Given the description of an element on the screen output the (x, y) to click on. 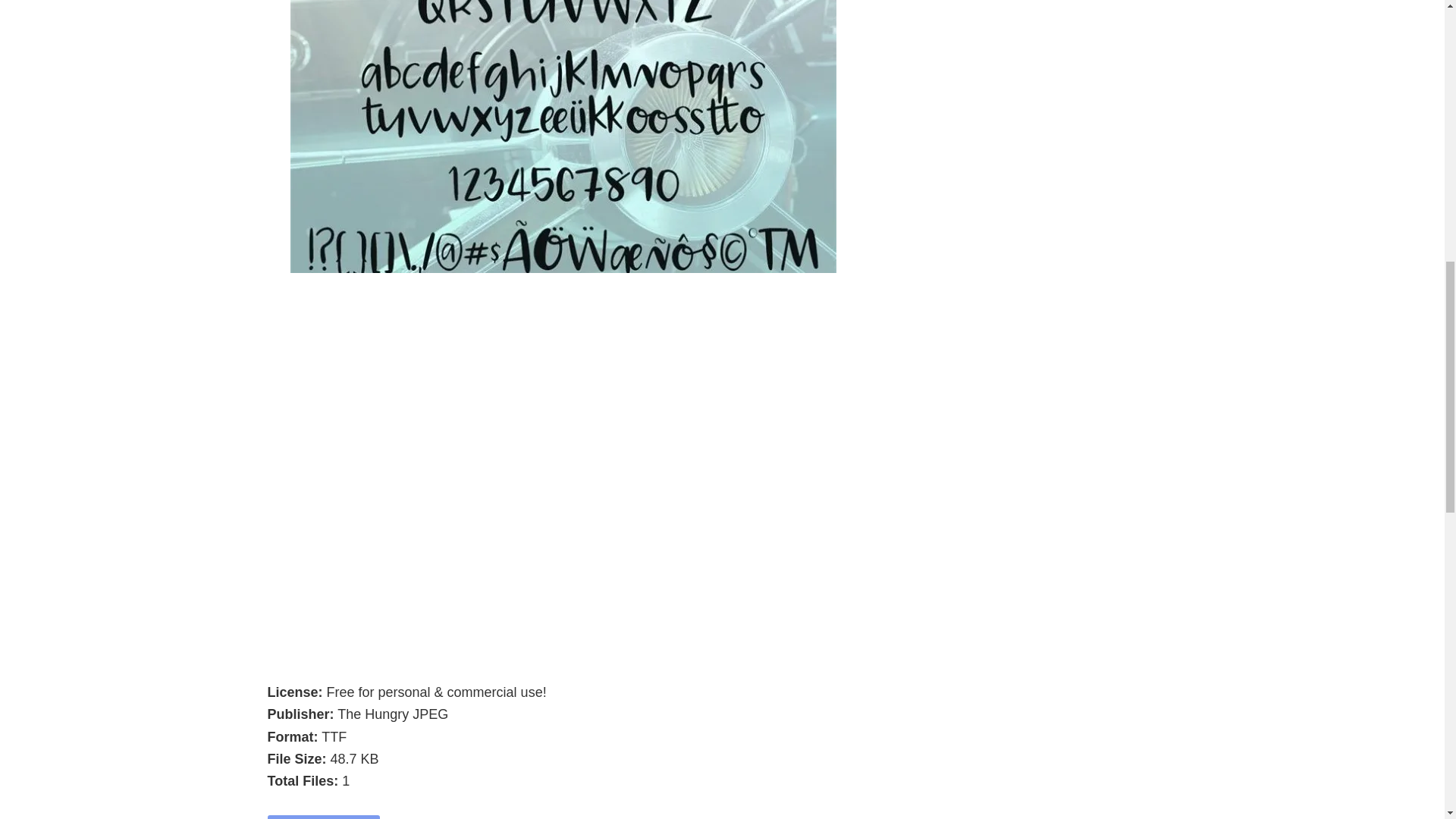
Free Download (323, 816)
